Given the description of an element on the screen output the (x, y) to click on. 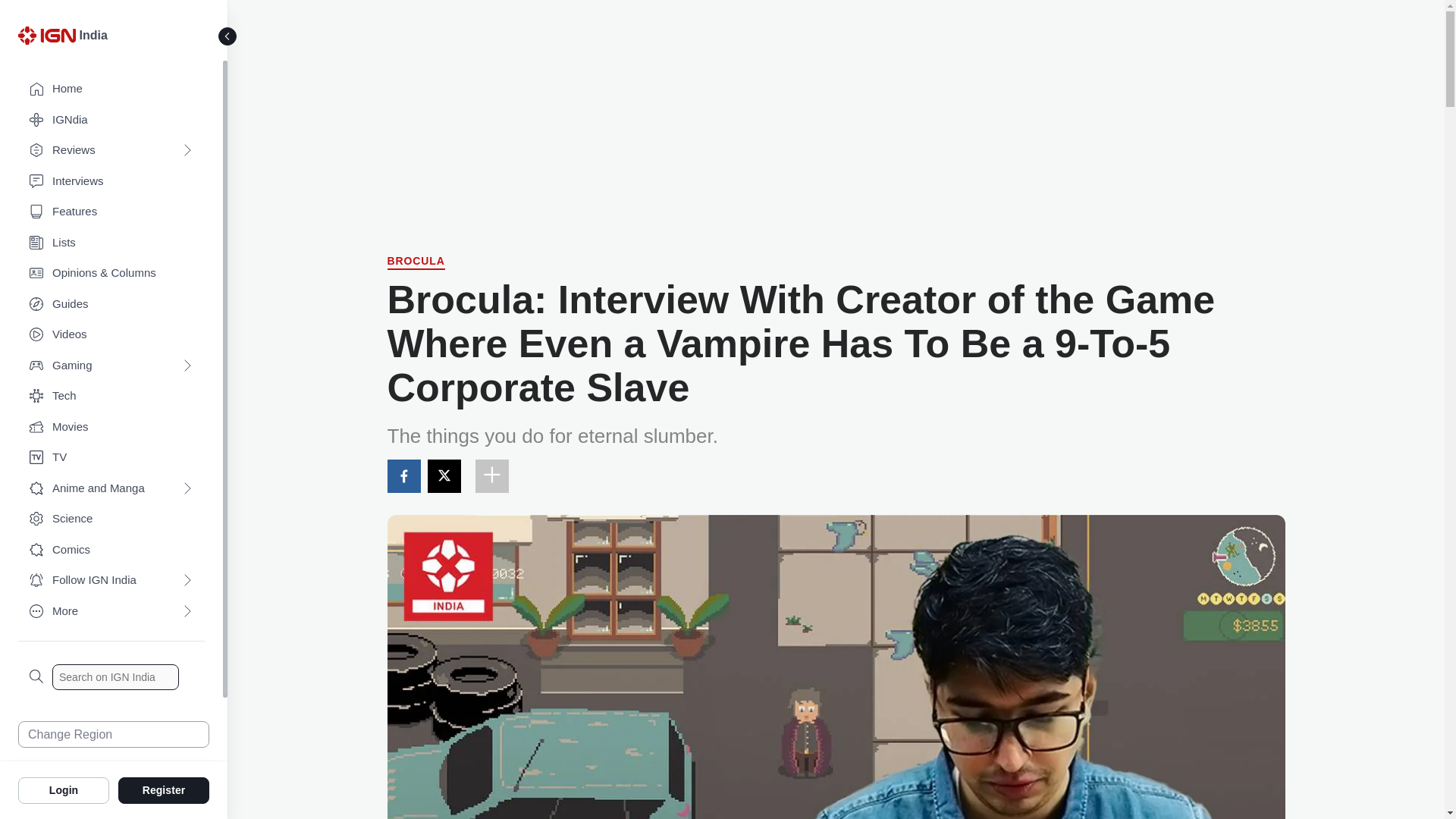
IGN Logo (46, 34)
Toggle Sidebar (226, 36)
Tech (111, 396)
IGN Logo (48, 39)
Lists (111, 242)
Movies (111, 427)
TV (111, 457)
Brocula (415, 262)
IGNdia (111, 119)
Comics (111, 550)
Guides (111, 304)
Gaming (111, 365)
Videos (111, 334)
Science (111, 518)
